Given the description of an element on the screen output the (x, y) to click on. 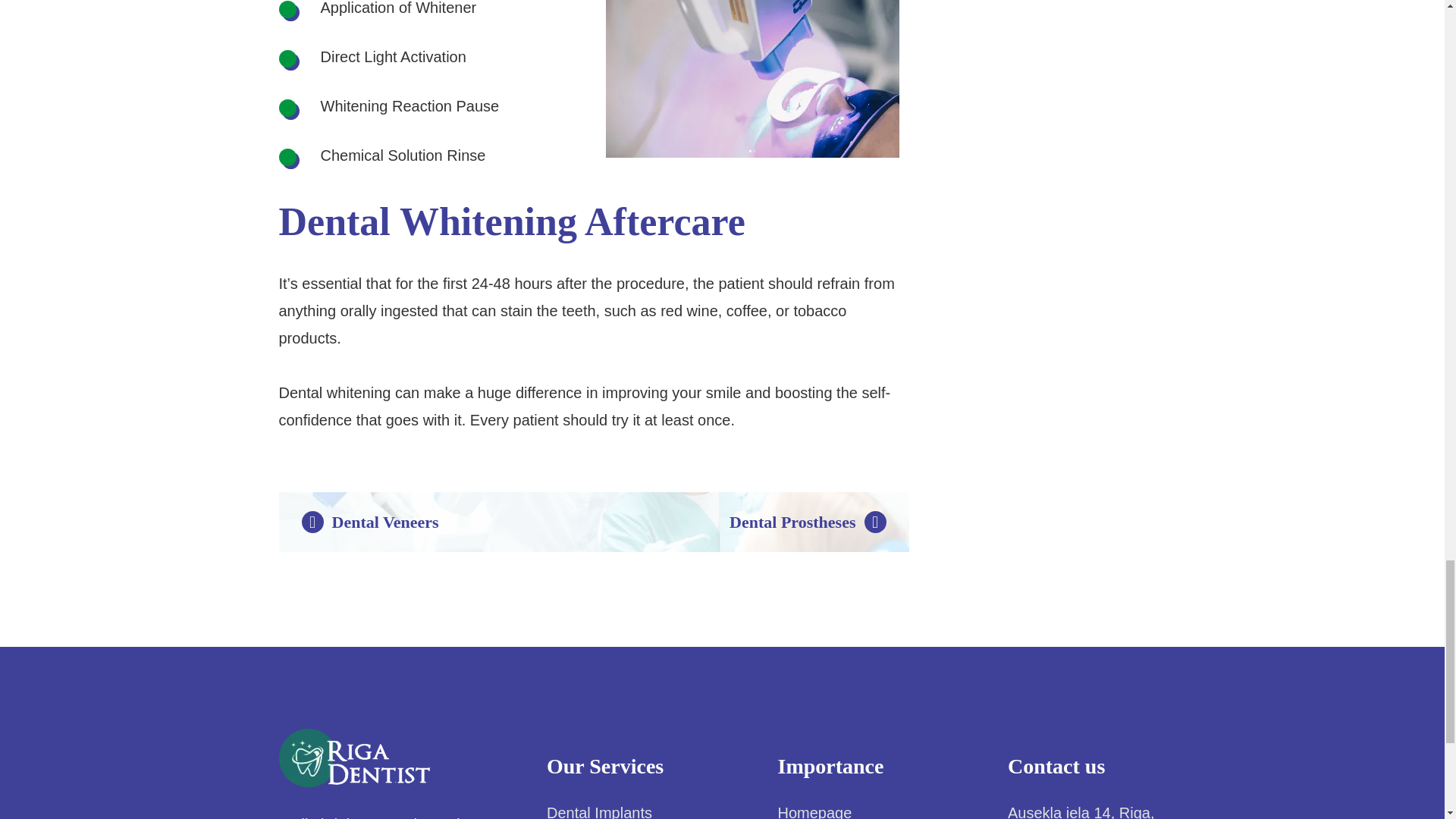
Dental Implants (599, 811)
Dental Prostheses (807, 522)
Homepage (814, 811)
Dental Veneers (370, 522)
